Given the description of an element on the screen output the (x, y) to click on. 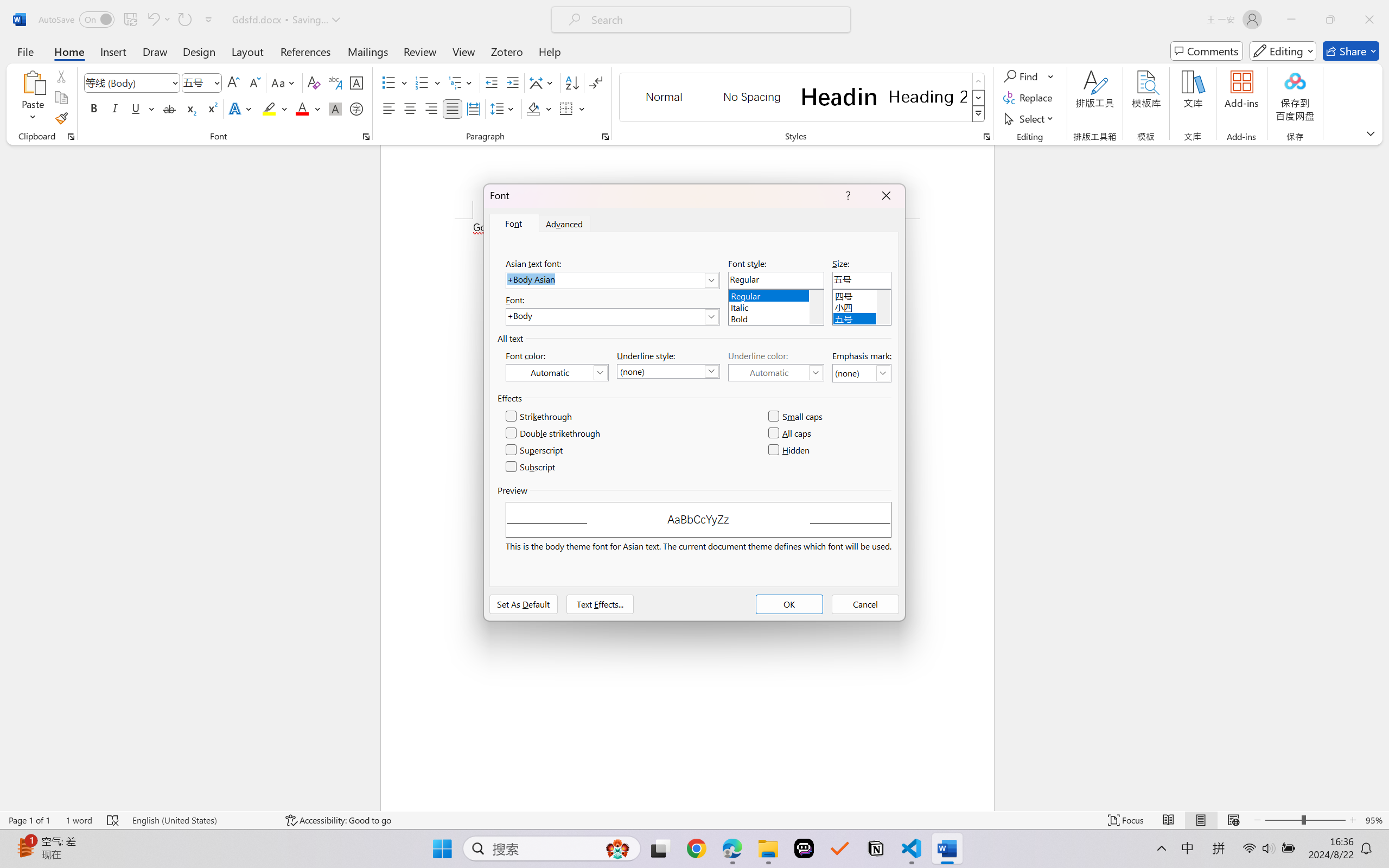
OK (789, 603)
Superscript (535, 450)
Italic (115, 108)
Double strikethrough (553, 433)
